Given the description of an element on the screen output the (x, y) to click on. 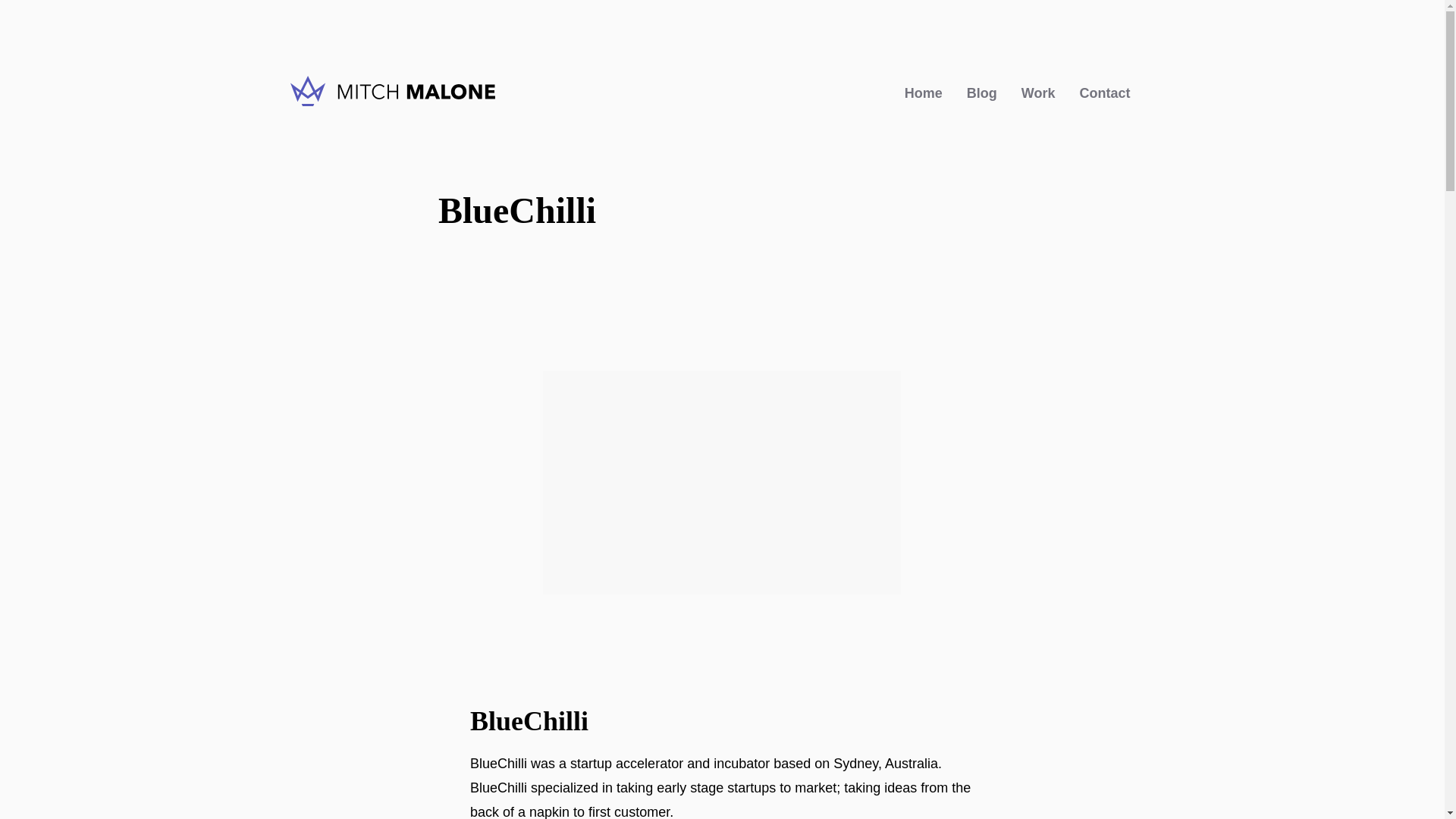
Work (1038, 93)
Contact (1105, 93)
Blog (981, 93)
Home (923, 93)
